Given the description of an element on the screen output the (x, y) to click on. 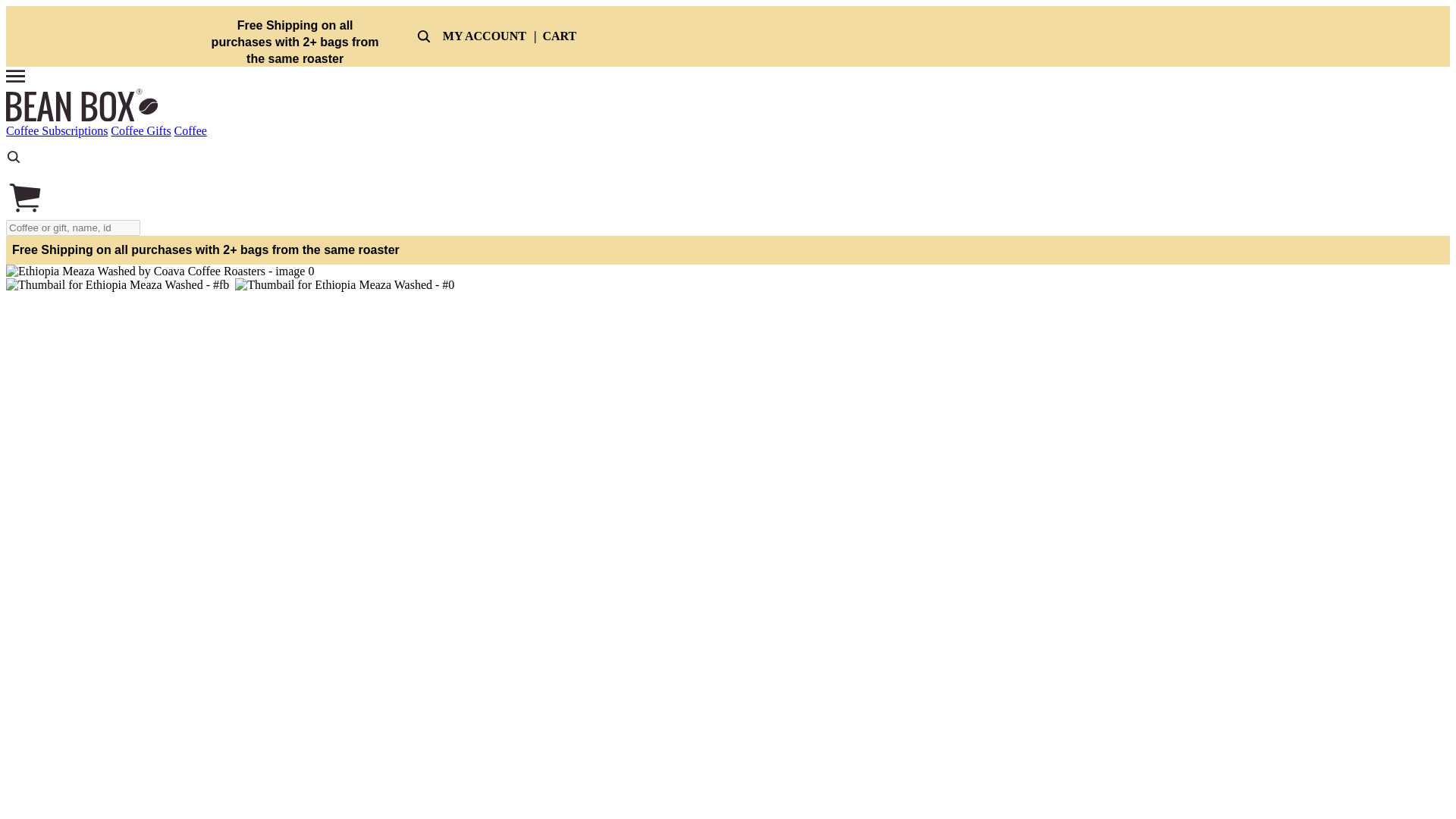
Bean Box mobile menu (14, 81)
Bean Box mobile menu (14, 75)
Coffee Gifts (140, 130)
Coffee (190, 130)
Coffee Subscriptions (56, 130)
Shopping Cart (24, 212)
Search Bean Box Coffees and Gifts (13, 171)
Search Bean Box Coffees and Gifts (13, 157)
Shopping Cart (24, 198)
MY ACCOUNT (483, 36)
